Given the description of an element on the screen output the (x, y) to click on. 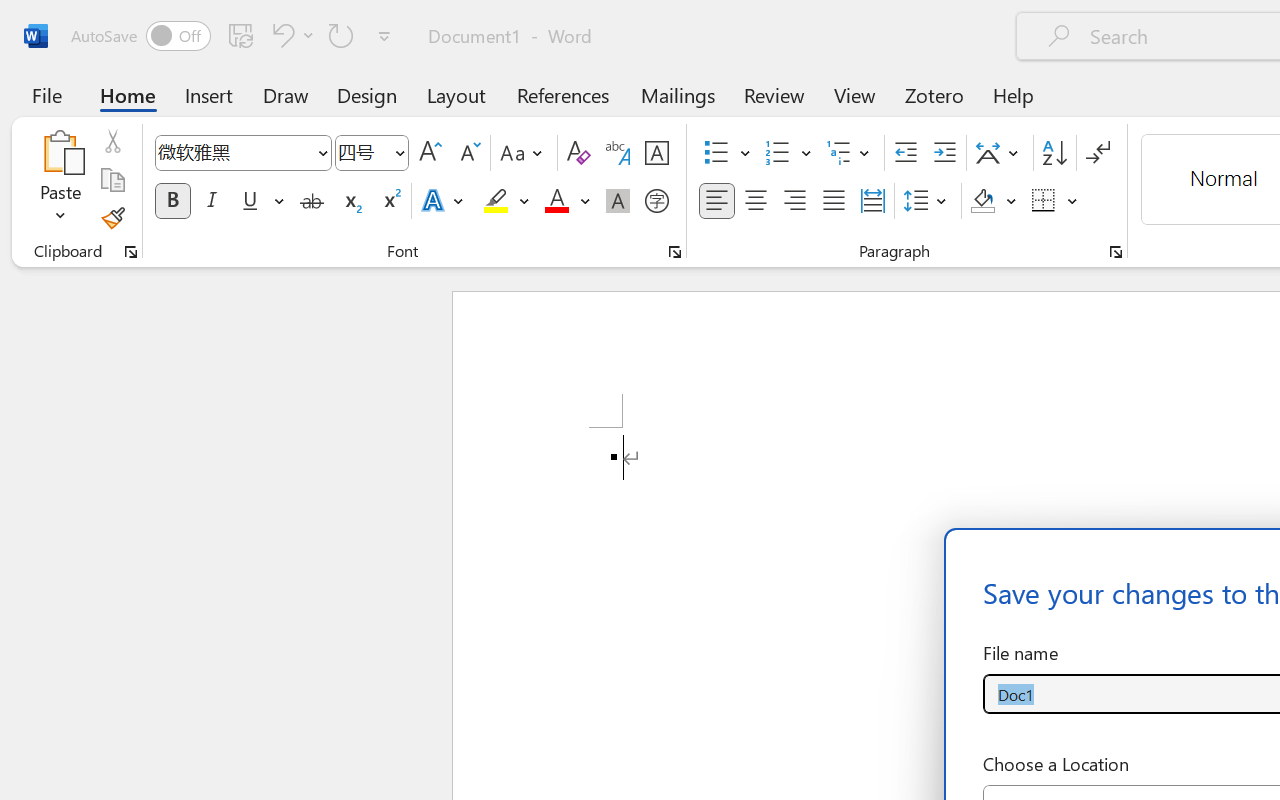
Repeat Style (341, 35)
